Given the description of an element on the screen output the (x, y) to click on. 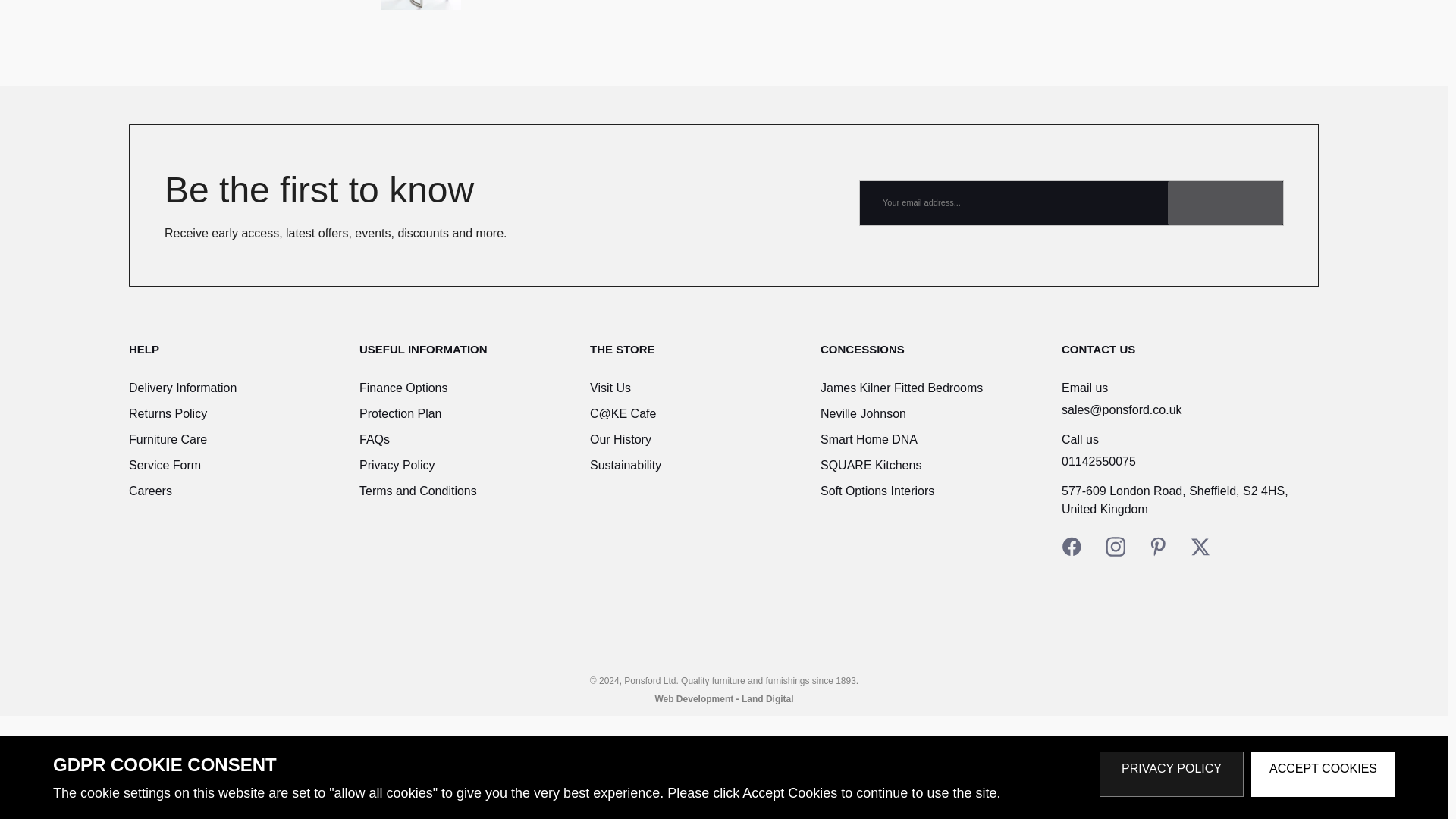
Polo Nest of Tables (420, 4)
